Given the description of an element on the screen output the (x, y) to click on. 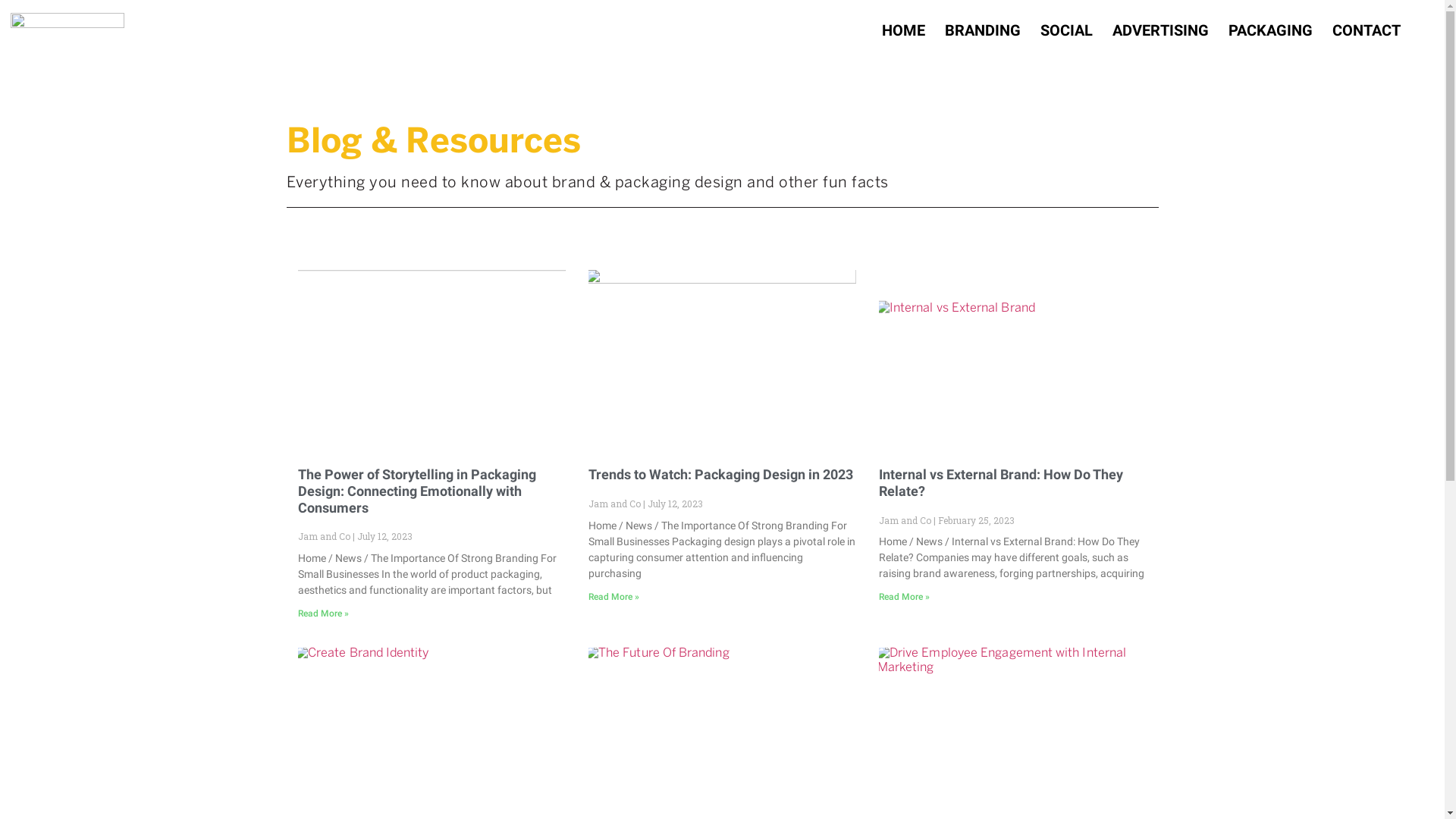
Trends to Watch: Packaging Design in 2023 Element type: text (711, 482)
PACKAGING Element type: text (1261, 29)
Internal vs External Brand: How Do They Relate? Element type: text (1010, 482)
ADVERTISING Element type: text (1144, 29)
HOME Element type: text (871, 29)
BRANDING Element type: text (955, 29)
SOCIAL Element type: text (1044, 29)
CONTACT Element type: text (1363, 29)
